Given the description of an element on the screen output the (x, y) to click on. 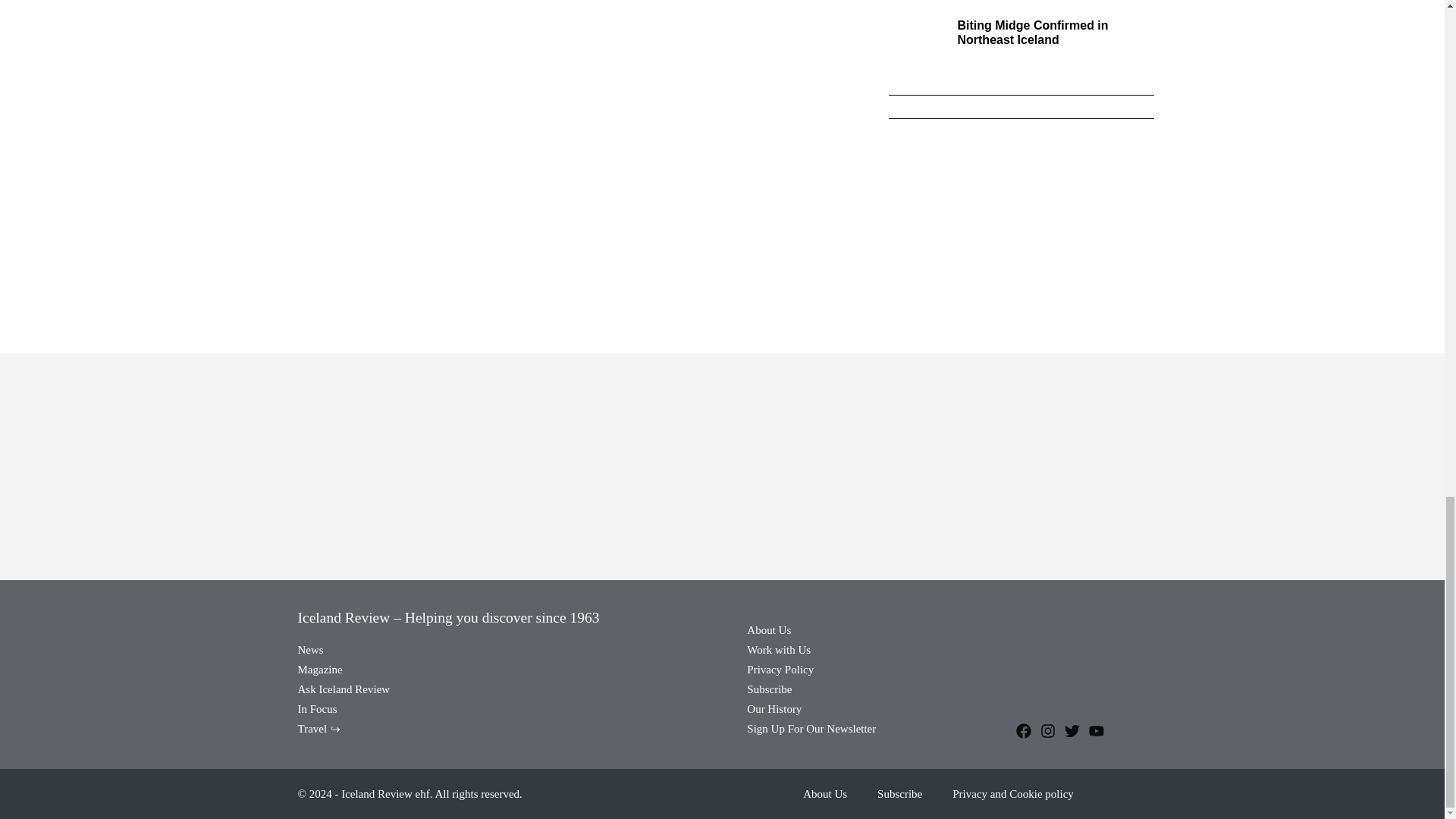
Biting Midge Confirmed in Northeast Iceland (1032, 31)
